Given the description of an element on the screen output the (x, y) to click on. 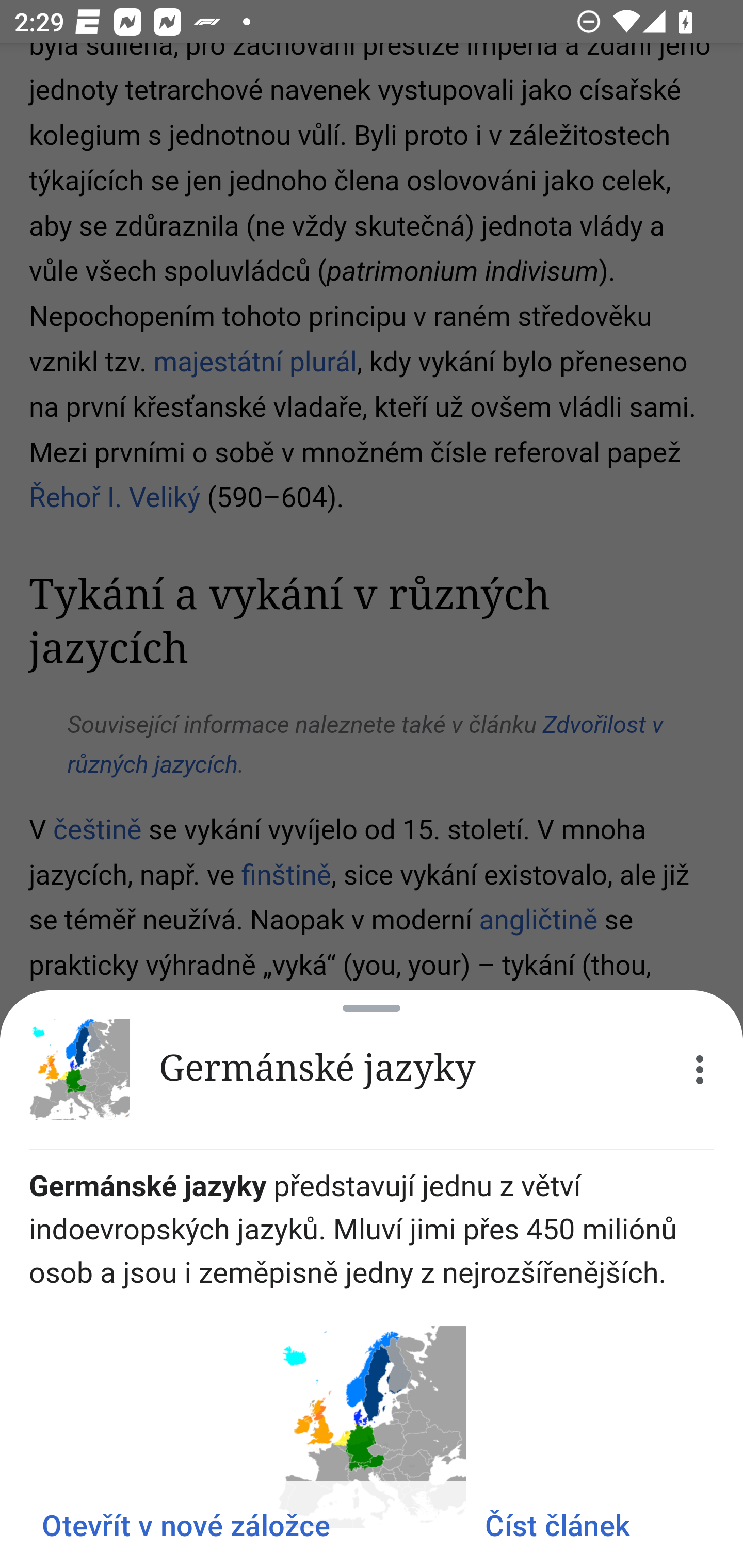
Germánské jazyky More options (371, 1069)
More options (699, 1070)
Otevřít v nové záložce (185, 1524)
Číst článek (557, 1524)
